Given the description of an element on the screen output the (x, y) to click on. 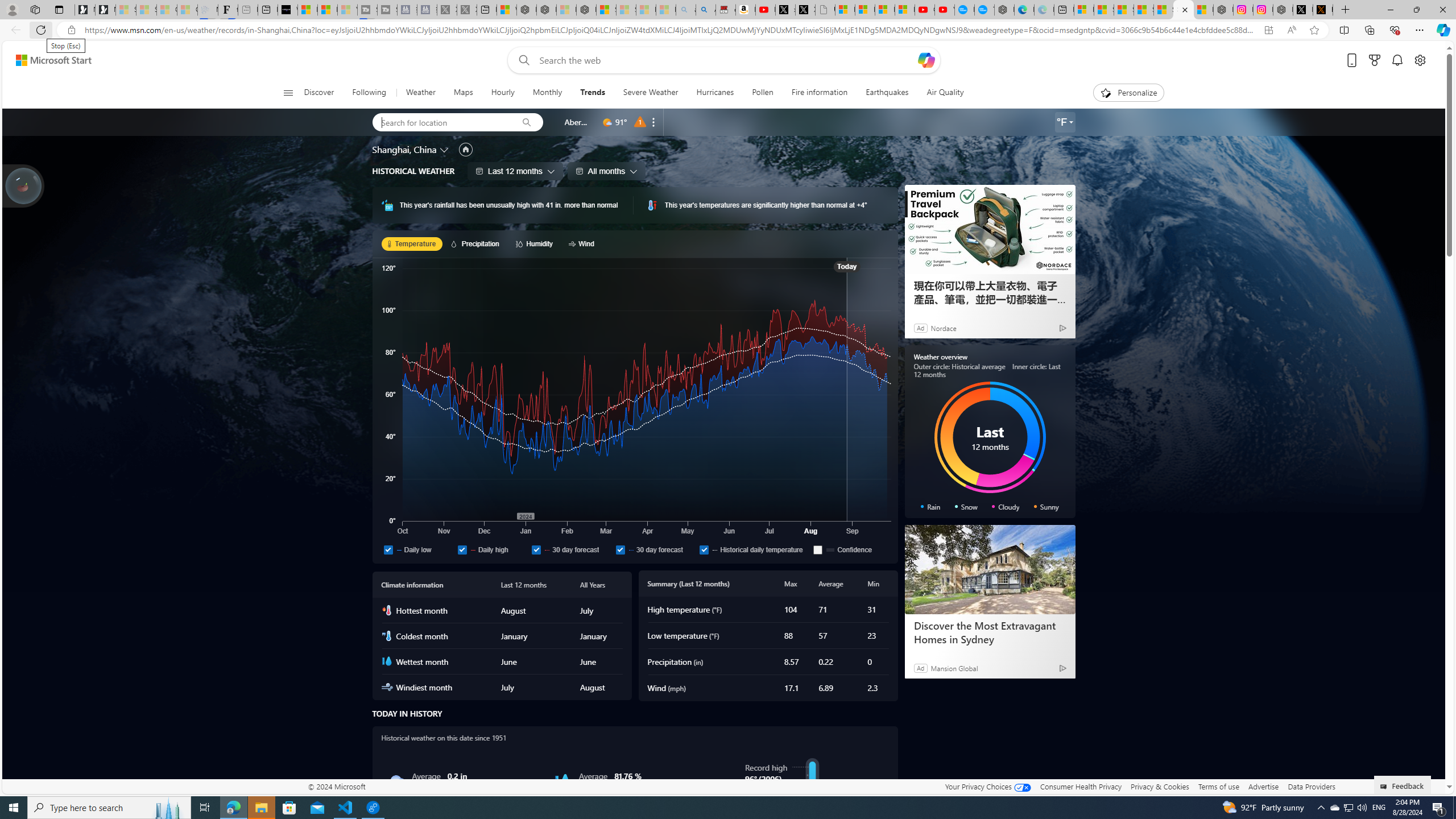
amazon - Search - Sleeping (685, 9)
Precipitation (476, 243)
Advertise (1263, 786)
Data Providers (1311, 786)
Personal Profile (12, 9)
Discover (323, 92)
Confidence (849, 549)
Shanghai, China Weather trends | Microsoft Weather (1183, 9)
Browser essentials (1394, 29)
Collections (1369, 29)
View site information (70, 29)
Back (13, 29)
Shanghai, China weather forecast | Microsoft Weather (1103, 9)
